Given the description of an element on the screen output the (x, y) to click on. 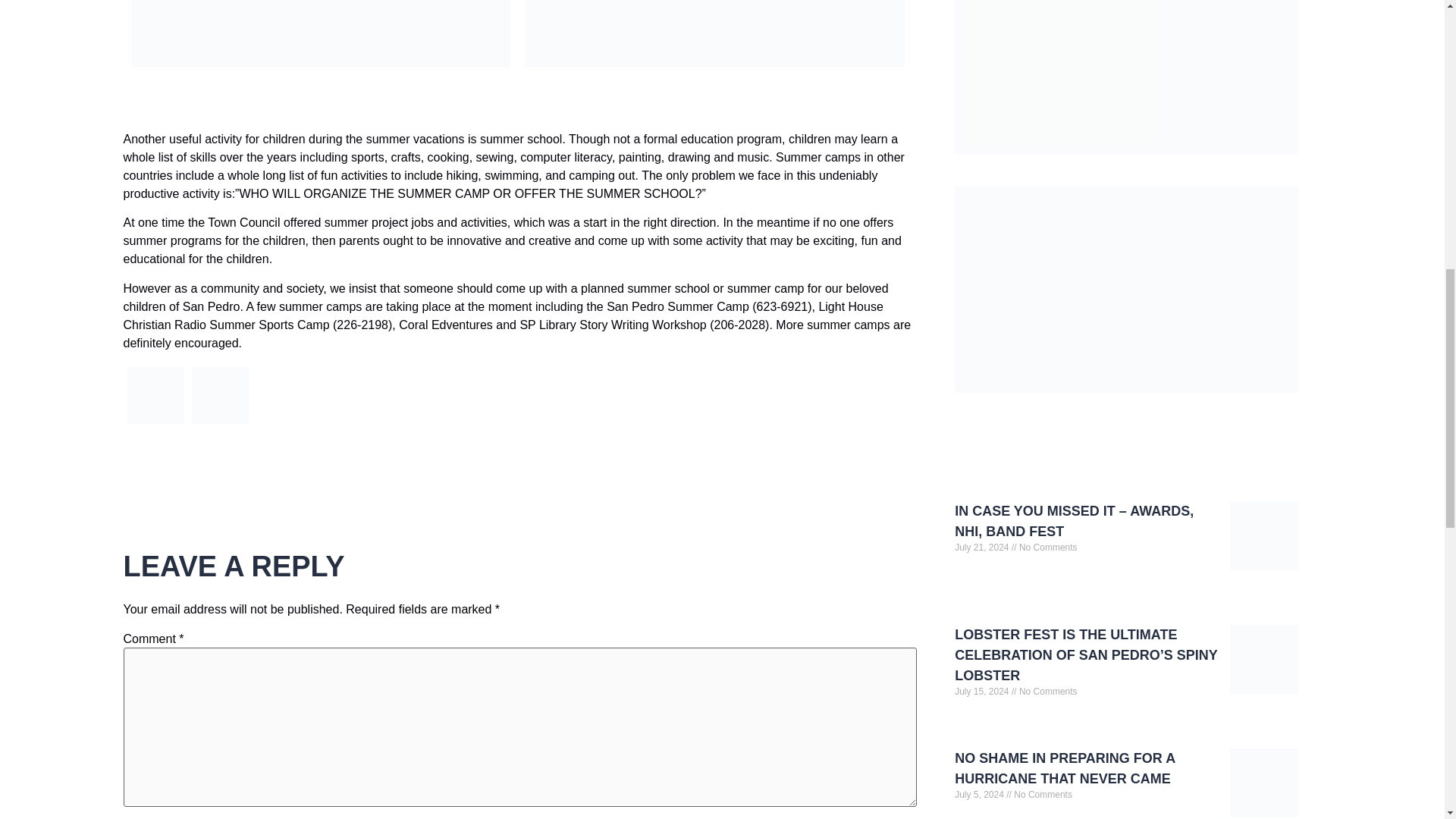
Lighthouse Christian Radio Summer Camp (154, 422)
Editorial - Summer Activities 2 (218, 395)
Summer Activities (219, 422)
Editorial - Summer Activities 1 (156, 395)
